Given the description of an element on the screen output the (x, y) to click on. 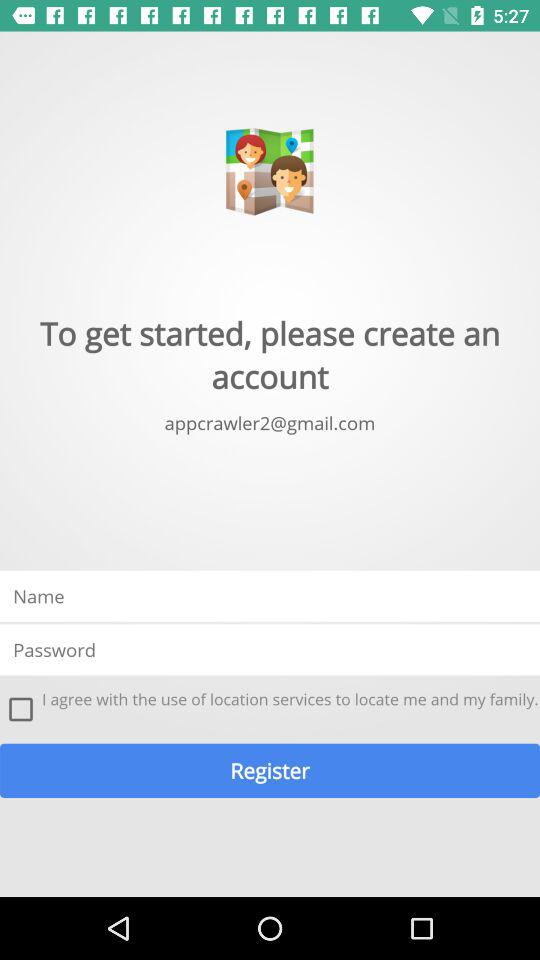
enter name (270, 595)
